Given the description of an element on the screen output the (x, y) to click on. 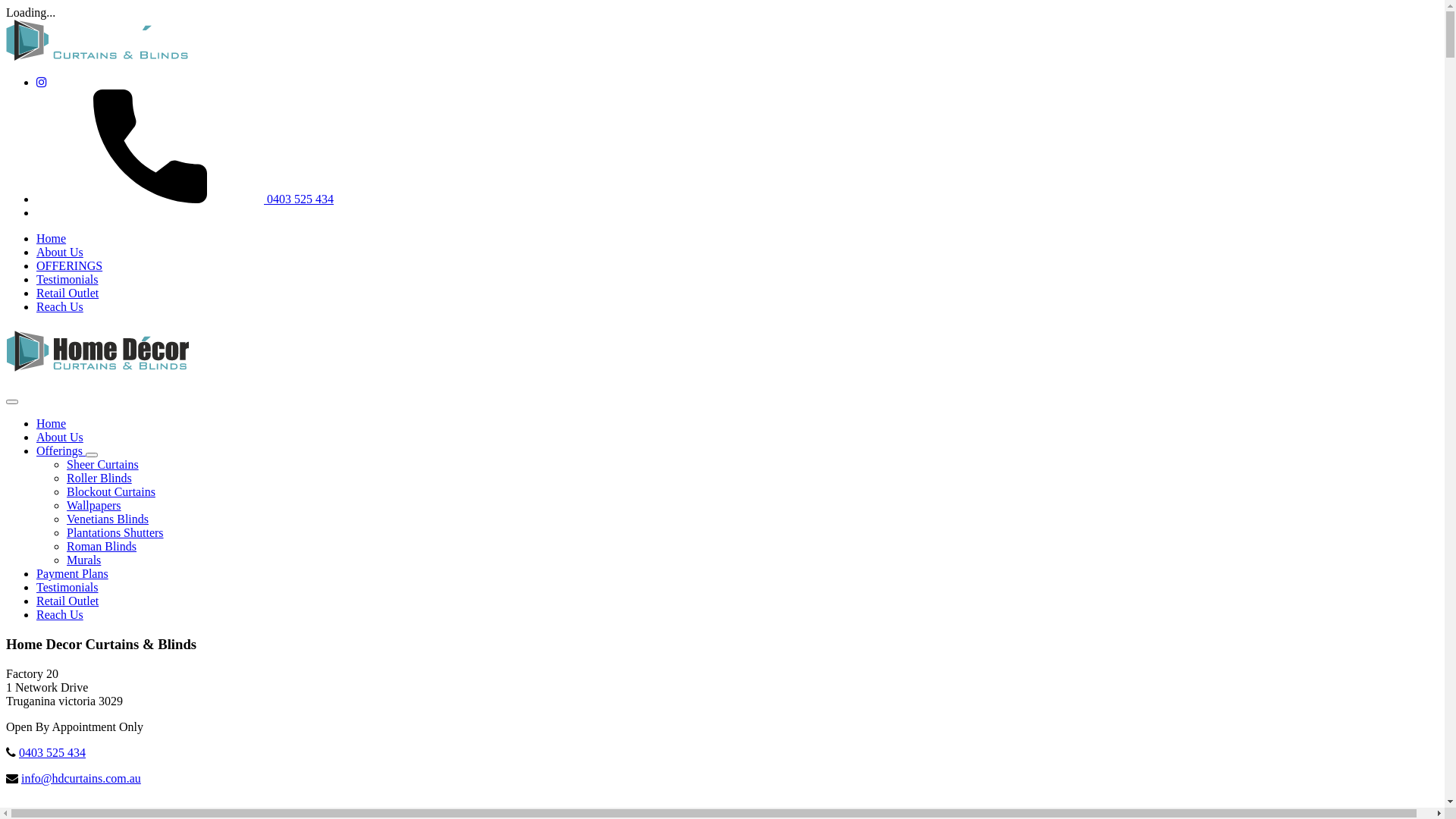
Home Element type: text (50, 238)
0403 525 434 Element type: text (51, 752)
Venetians Blinds Element type: text (107, 518)
Testimonials Element type: text (67, 586)
Payment Plans Element type: text (72, 573)
Murals Element type: text (83, 559)
Wallpapers Element type: text (93, 504)
Offerings Element type: text (60, 450)
Home Element type: text (50, 423)
Reach Us Element type: text (59, 306)
Roman Blinds Element type: text (101, 545)
Plantations Shutters Element type: text (114, 532)
Retail Outlet Element type: text (67, 292)
Sheer Curtains Element type: text (102, 464)
Testimonials Element type: text (67, 279)
Retail Outlet Element type: text (67, 600)
Blockout Curtains Element type: text (110, 491)
Roller Blinds Element type: text (98, 477)
info@hdcurtains.com.au Element type: text (81, 777)
About Us Element type: text (59, 436)
About Us Element type: text (59, 251)
OFFERINGS Element type: text (69, 265)
0403 525 434 Element type: text (184, 198)
Reach Us Element type: text (59, 614)
